Given the description of an element on the screen output the (x, y) to click on. 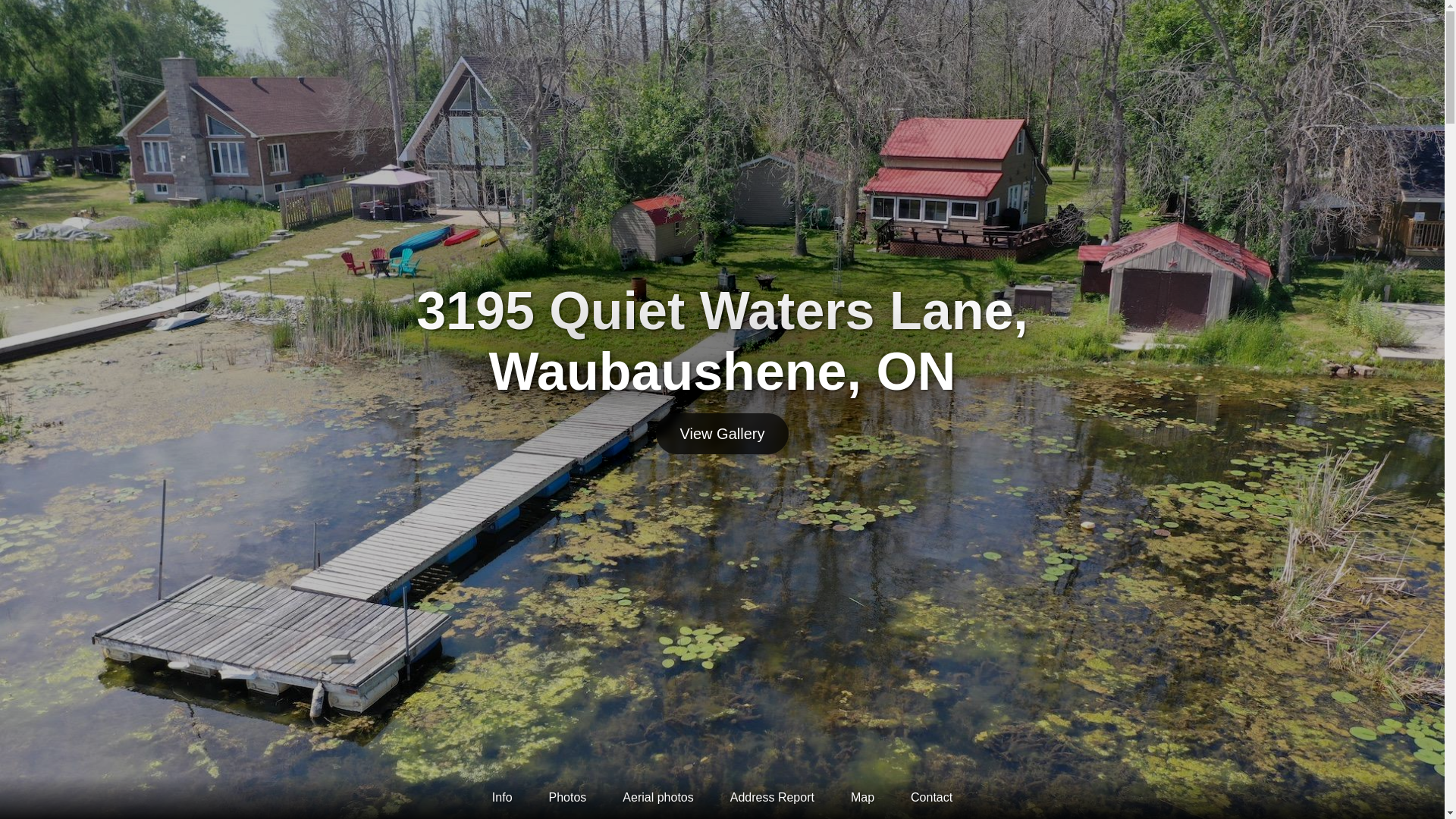
View Gallery Element type: text (722, 432)
